Given the description of an element on the screen output the (x, y) to click on. 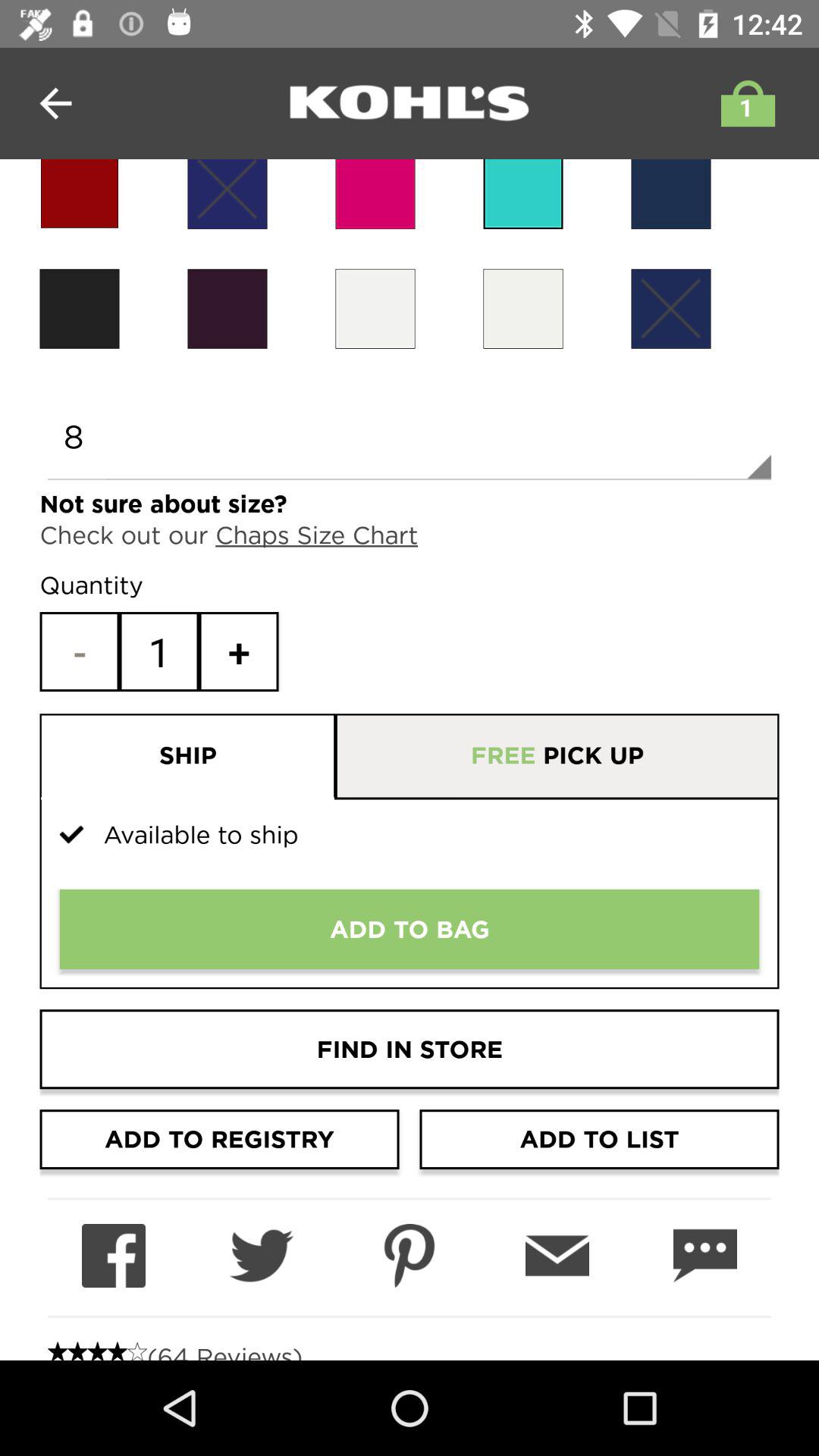
go to cart (744, 103)
